Given the description of an element on the screen output the (x, y) to click on. 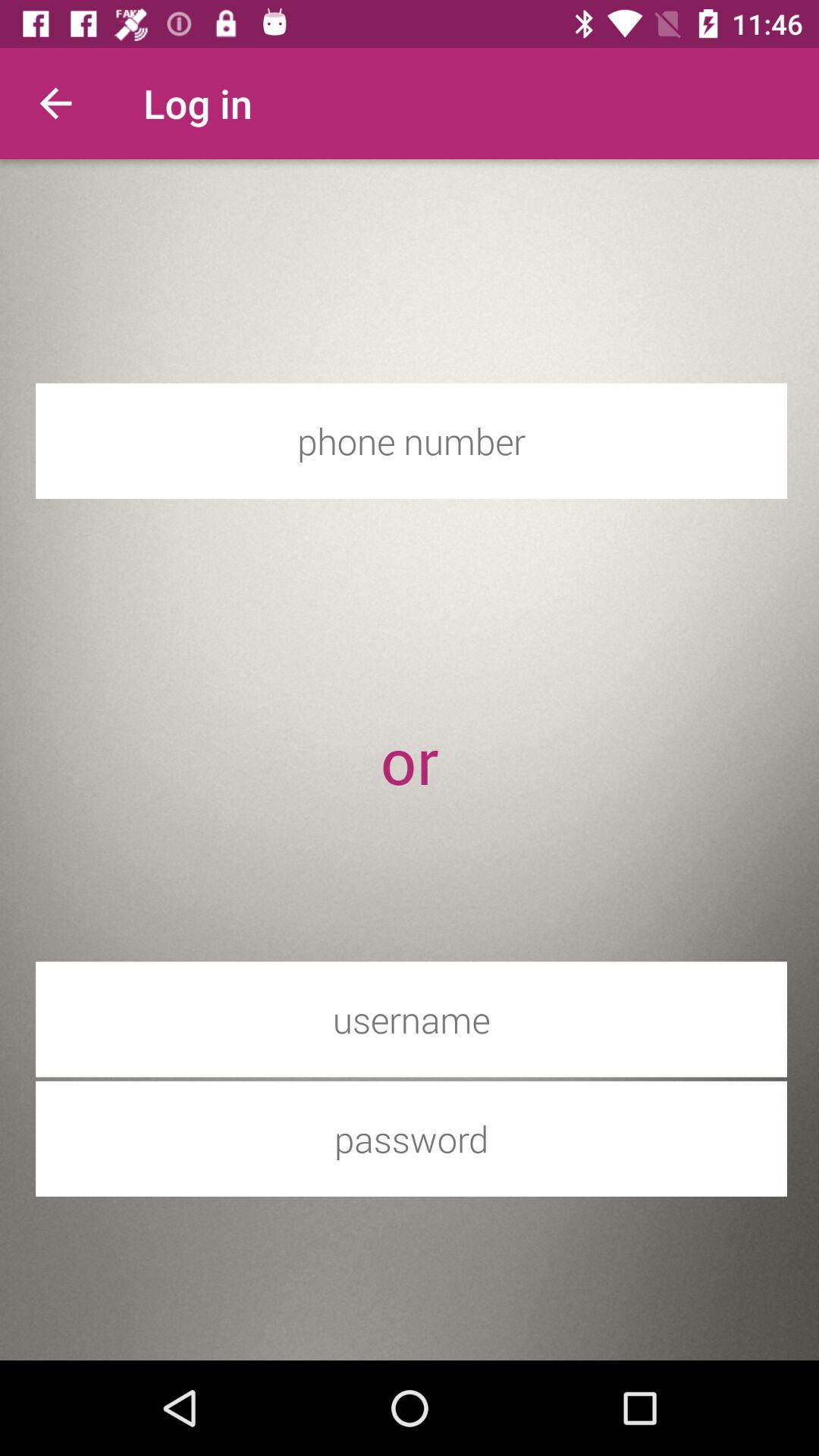
text area for username (411, 1019)
